Given the description of an element on the screen output the (x, y) to click on. 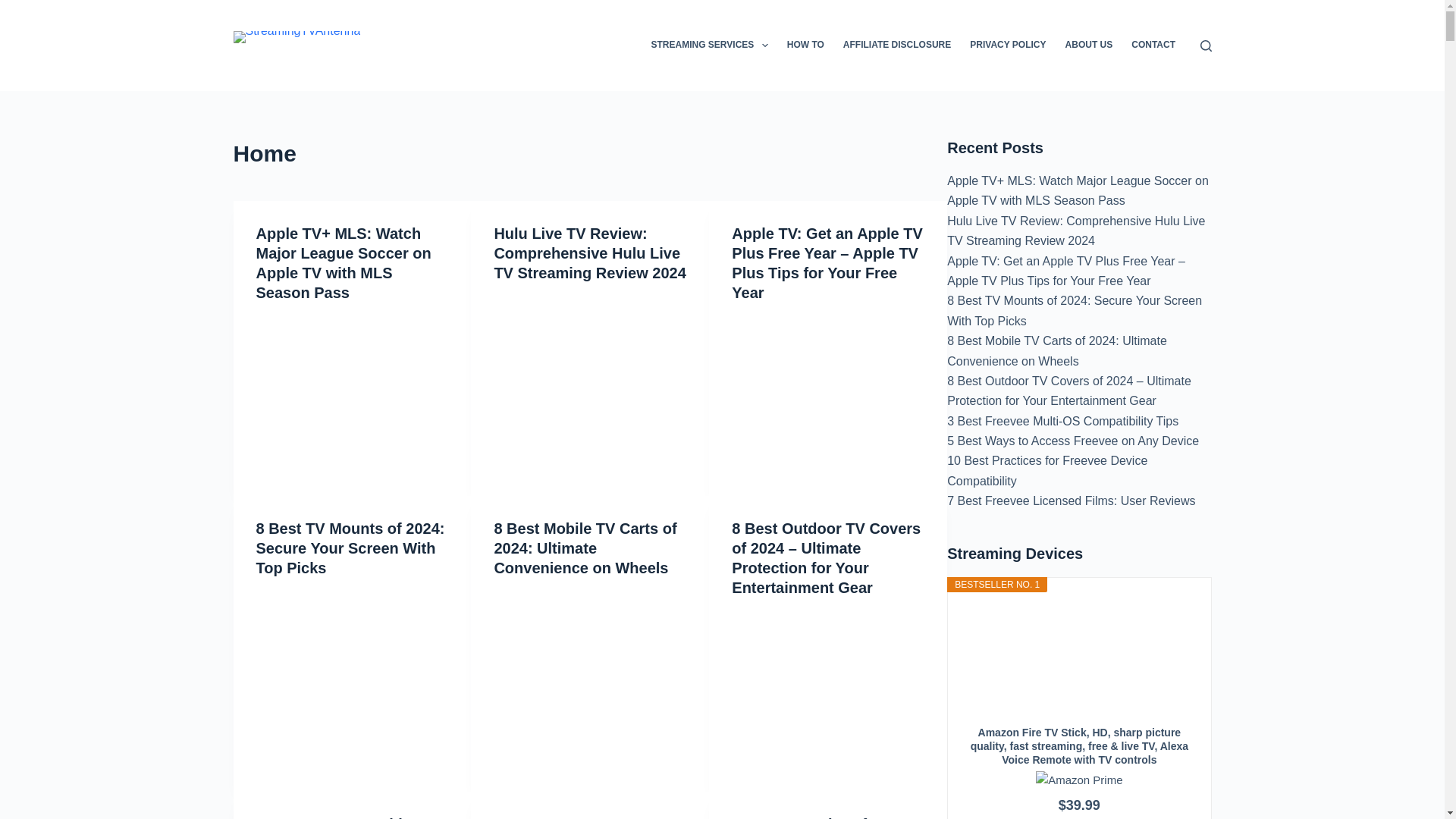
PRIVACY POLICY (1007, 45)
AFFILIATE DISCLOSURE (895, 45)
STREAMING SERVICES (709, 45)
Amazon Prime (1078, 779)
Home (589, 153)
8 Best TV Mounts of 2024: Secure Your Screen With Top Picks (350, 548)
Skip to content (15, 7)
